Given the description of an element on the screen output the (x, y) to click on. 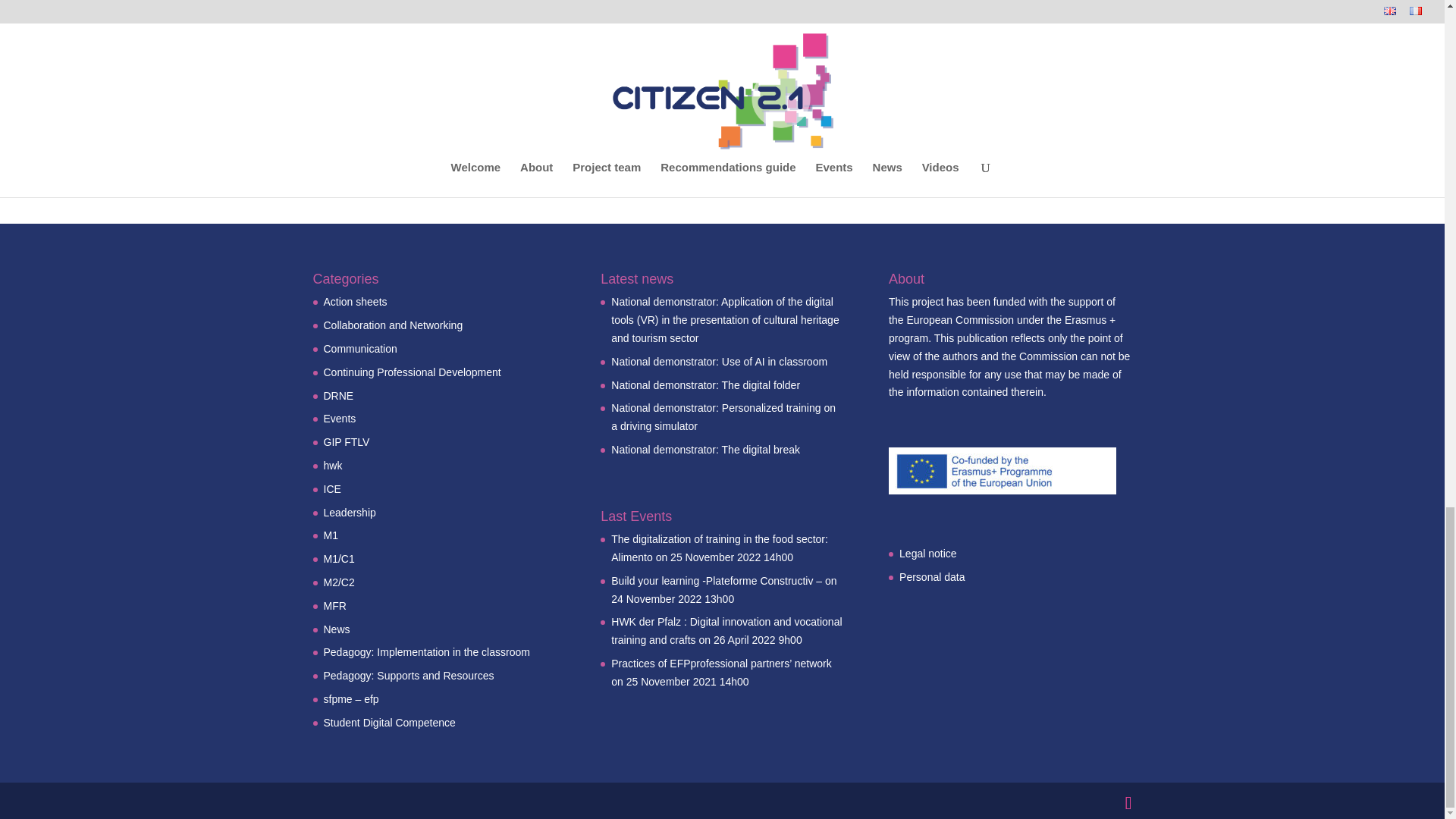
MFR (334, 605)
Pedagogy: Supports and Resources (408, 675)
Events (339, 418)
Pedagogy: Implementation in the classroom (426, 652)
Communication (359, 348)
Leadership (349, 512)
Action sheets (355, 301)
DRNE (338, 395)
News (336, 629)
Collaboration and Networking (393, 325)
